Given the description of an element on the screen output the (x, y) to click on. 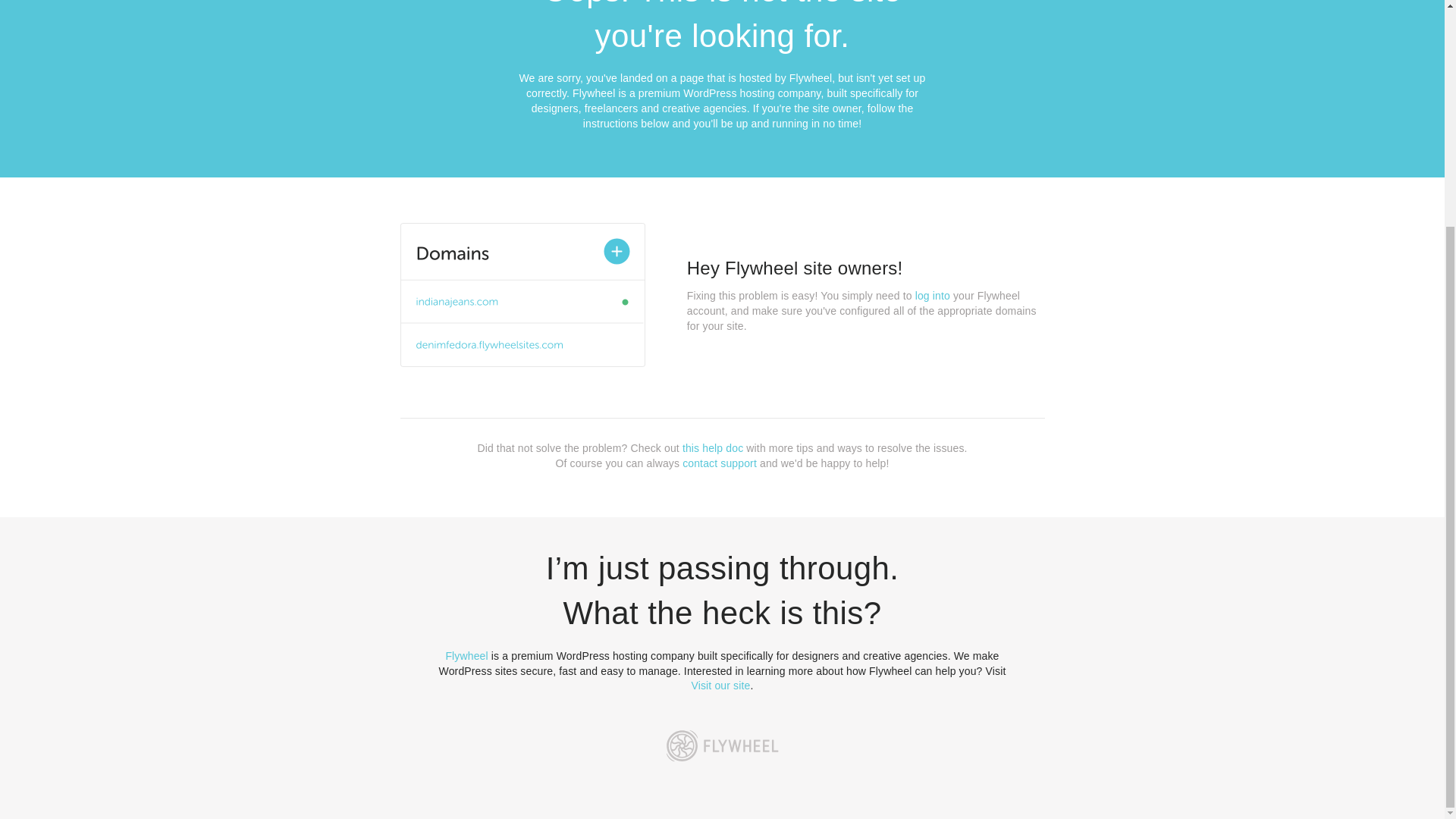
log into (932, 295)
contact support (719, 463)
Visit our site (721, 685)
Flywheel (466, 655)
this help doc (712, 448)
